Given the description of an element on the screen output the (x, y) to click on. 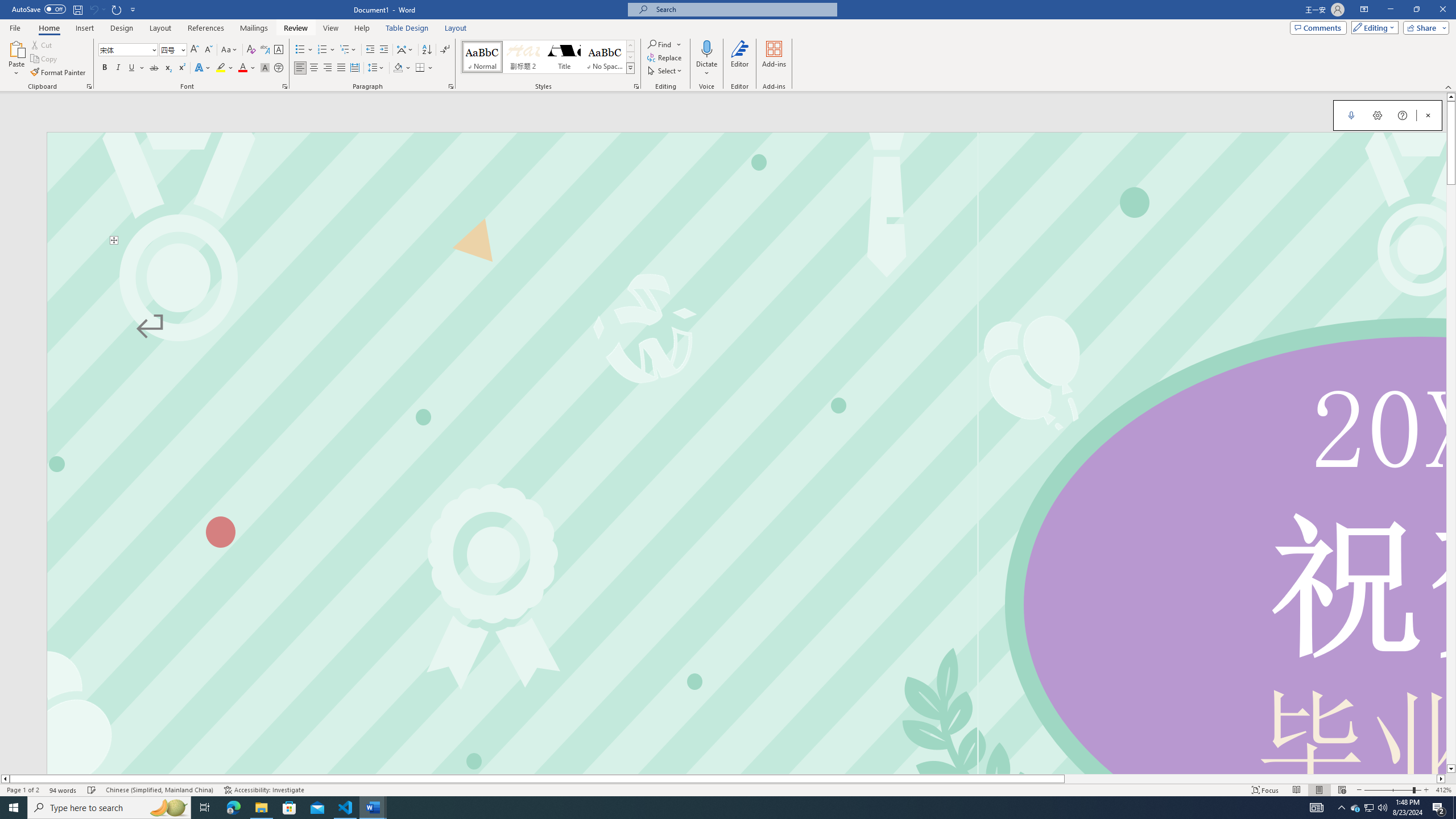
Editor (739, 58)
Line up (1450, 96)
Line down (1450, 768)
Enclose Characters... (278, 67)
Font Color (246, 67)
Multilevel List (347, 49)
Start Dictation (1350, 115)
Character Border (278, 49)
Styles (630, 67)
Page right (1250, 778)
